Given the description of an element on the screen output the (x, y) to click on. 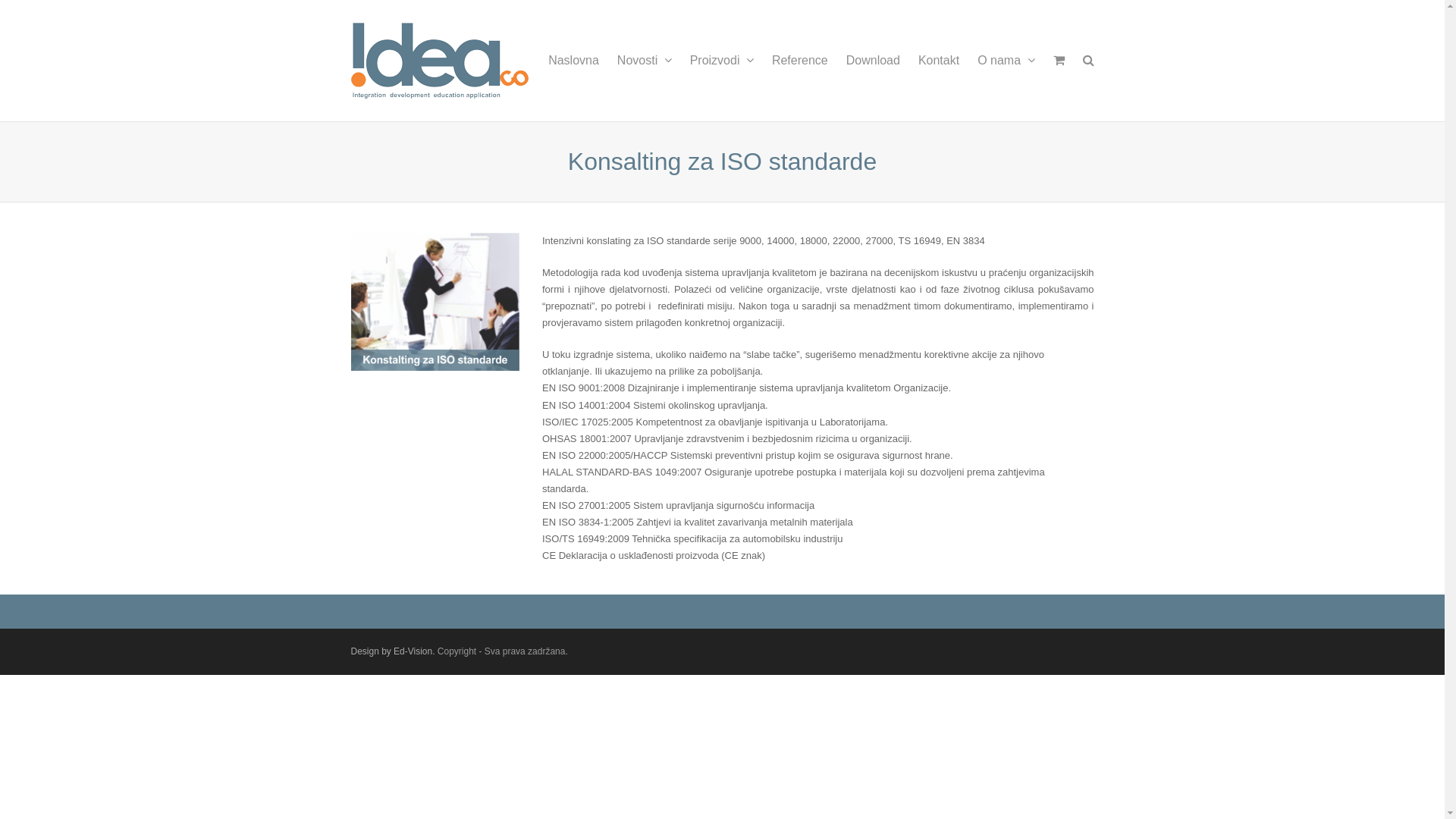
Your Cart Element type: hover (1058, 60)
O nama Element type: text (1005, 60)
Design by Ed-Vision. Element type: text (392, 651)
Novosti Element type: text (644, 60)
Kontakt Element type: text (938, 60)
Download Element type: text (873, 60)
Proizvodi Element type: text (721, 60)
Naslovna Element type: text (573, 60)
Reference Element type: text (799, 60)
Idea Co Element type: hover (438, 60)
